Given the description of an element on the screen output the (x, y) to click on. 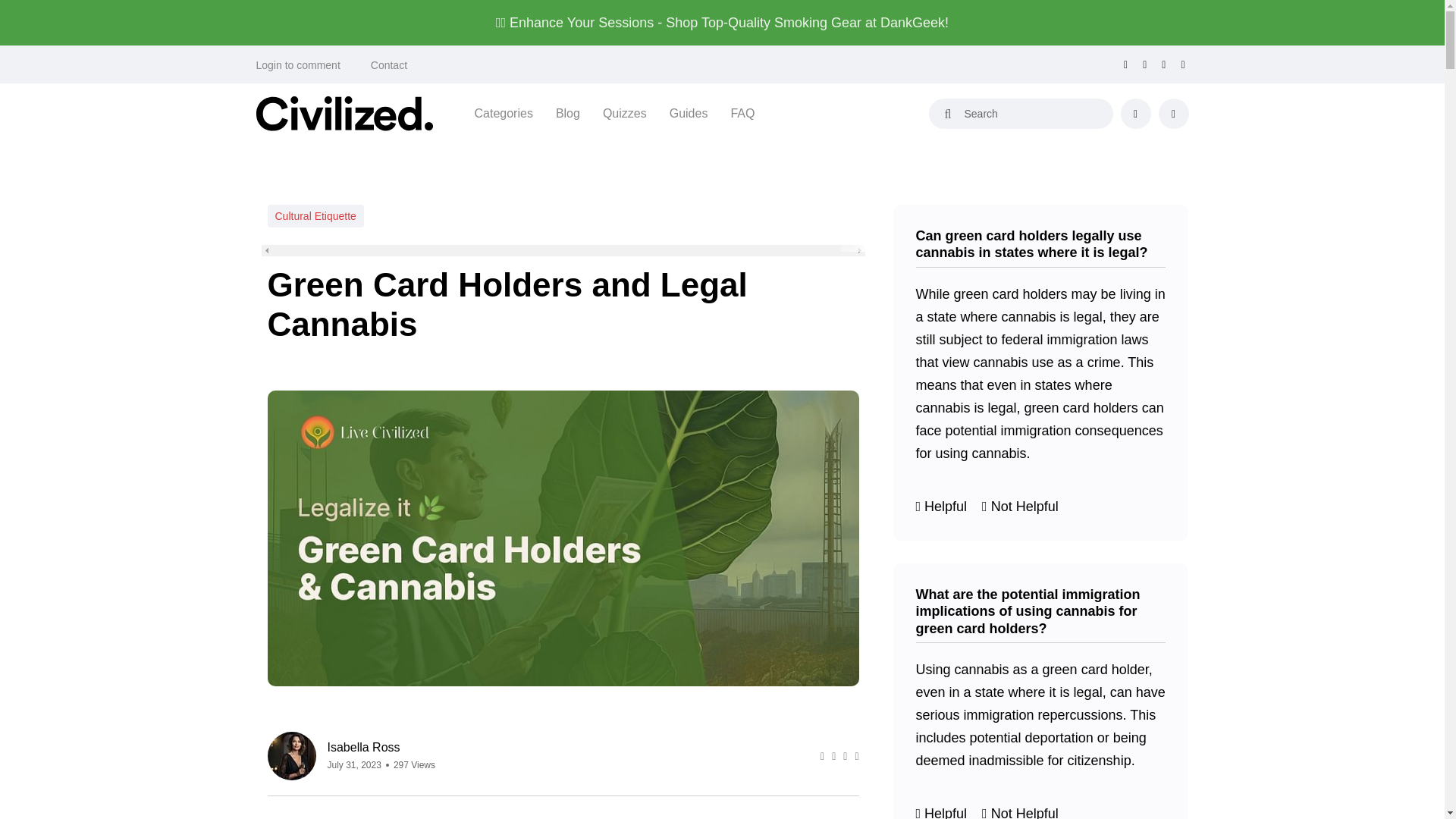
Contact (389, 64)
Login to comment (298, 64)
Categories (503, 113)
